Given the description of an element on the screen output the (x, y) to click on. 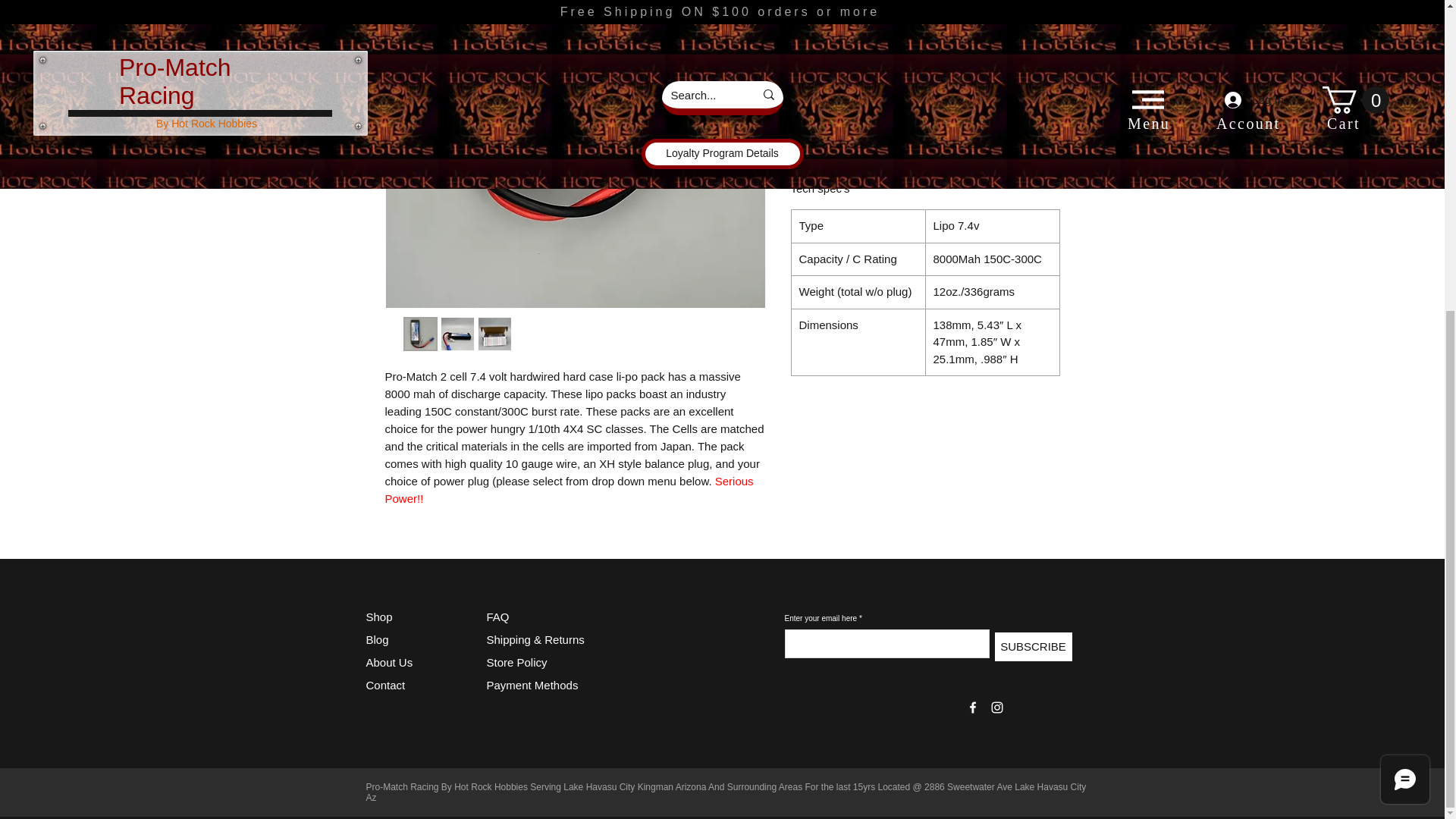
Tech spec's (924, 188)
Contact (384, 684)
About Us (388, 662)
Store Policy (516, 662)
Blog (376, 639)
Pre-Order (906, 128)
SUBSCRIBE (1032, 646)
Payment Methods  (533, 684)
Shop (378, 616)
FAQ (497, 616)
1 (818, 48)
